Given the description of an element on the screen output the (x, y) to click on. 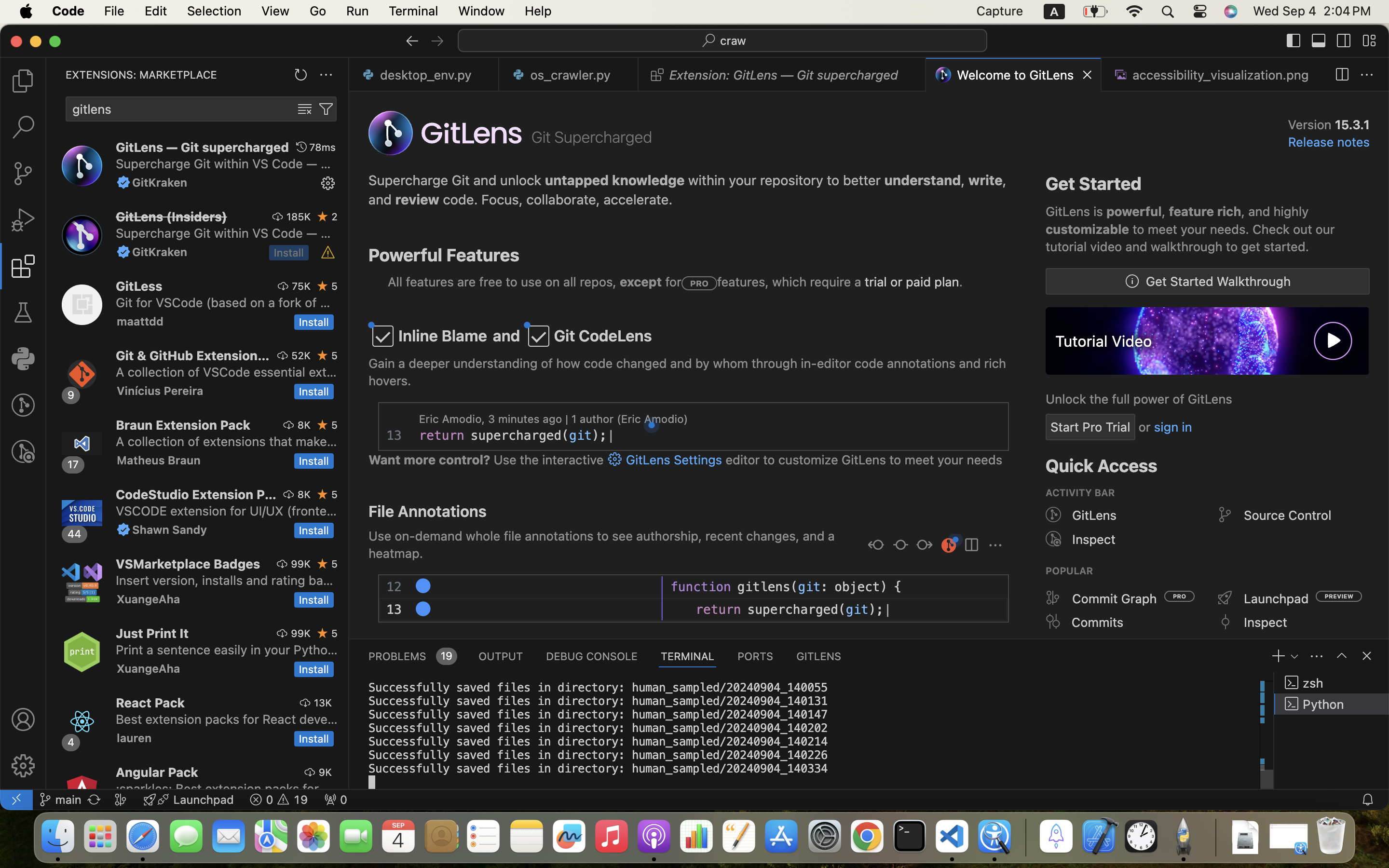
Inspect Element type: AXStaticText (1094, 538)
 Element type: AXStaticText (301, 146)
Release notes Element type: AXStaticText (1328, 142)
Supercharged Element type: AXStaticText (485, 609)
0 GITLENS Element type: AXRadioButton (819, 655)
